Given the description of an element on the screen output the (x, y) to click on. 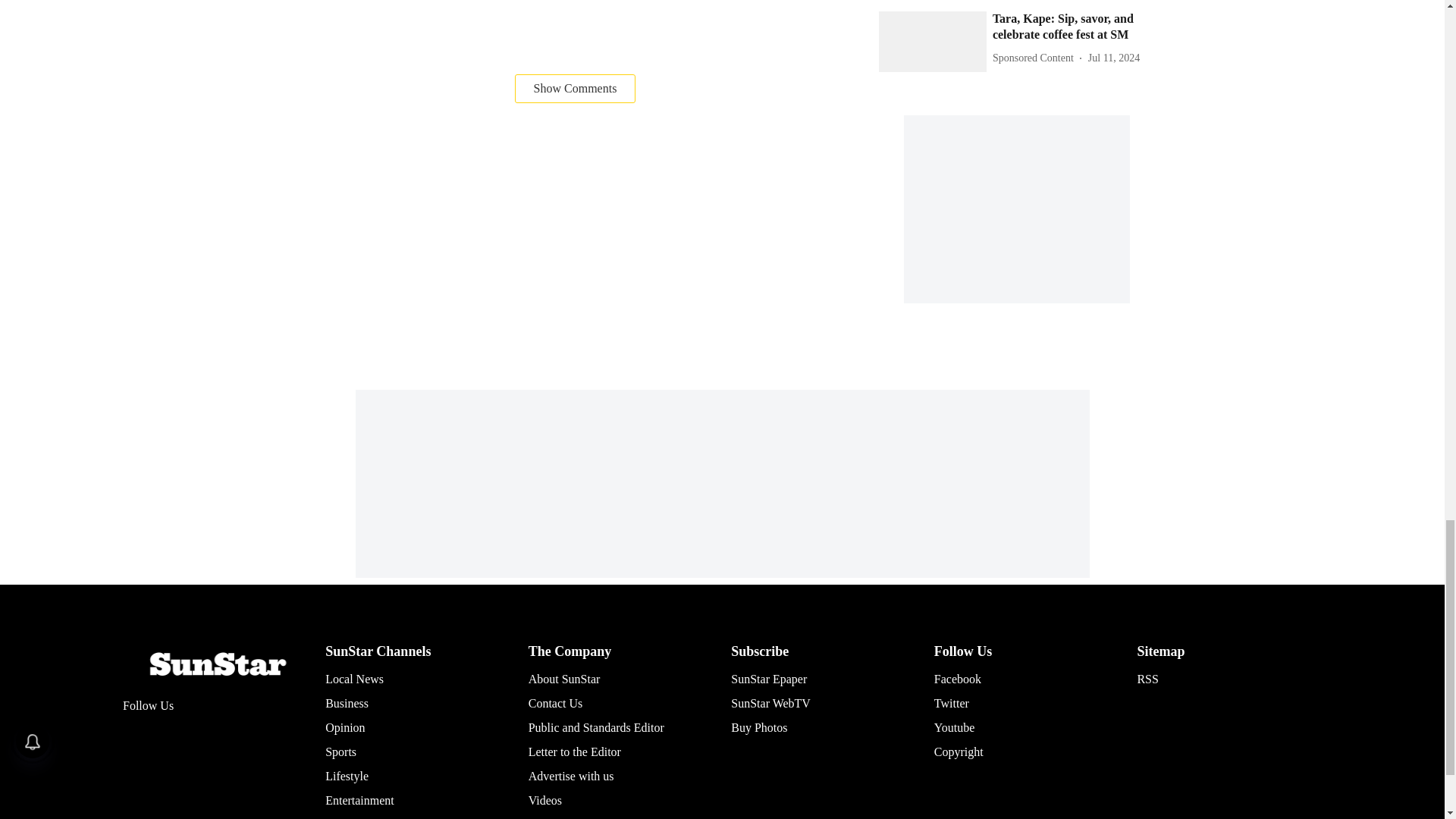
Show Comments (575, 88)
2024-07-11 00:59 (1113, 57)
